Given the description of an element on the screen output the (x, y) to click on. 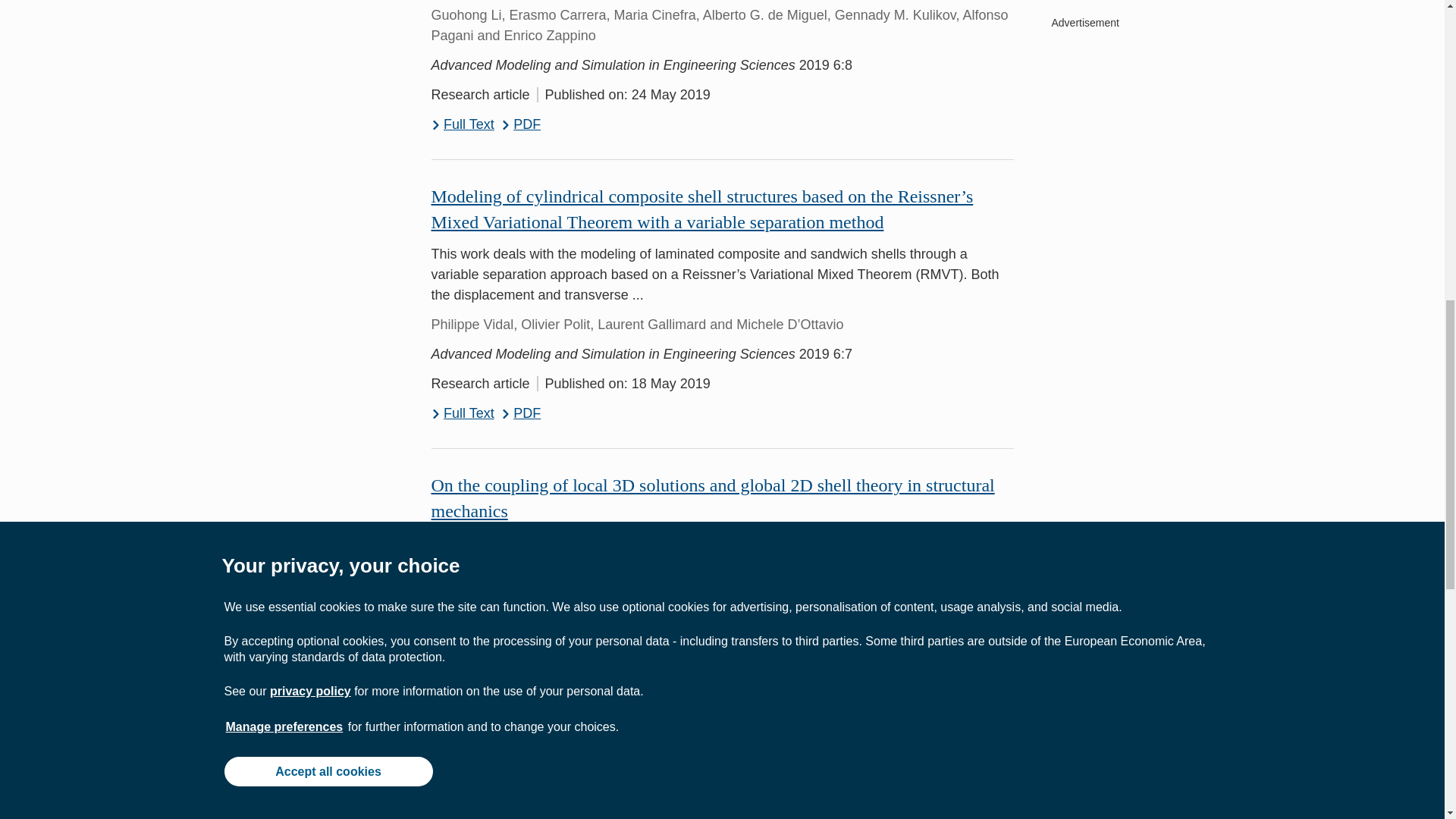
Full Text (461, 723)
PDF (520, 413)
Terms and conditions (505, 798)
Full Text (461, 124)
Support and Contact (311, 798)
PDF (520, 723)
PDF (520, 124)
Full Text (461, 413)
